Given the description of an element on the screen output the (x, y) to click on. 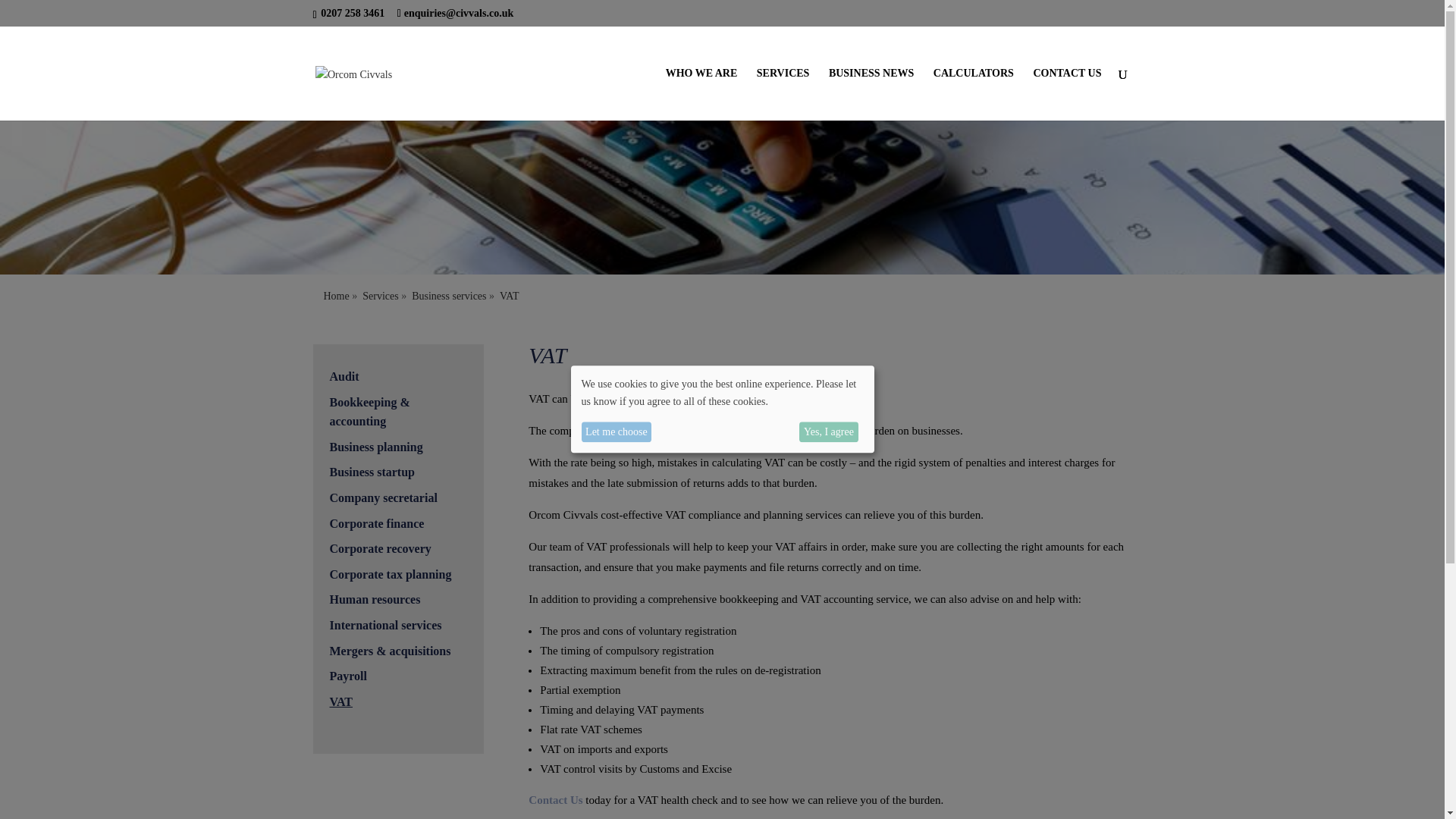
Business planning (375, 446)
VAT (340, 701)
Services (379, 296)
CALCULATORS (973, 93)
Corporate finance (376, 522)
BUSINESS NEWS (871, 93)
Company secretarial (382, 497)
Home (336, 296)
Audit (343, 376)
Corporate recovery (379, 548)
Payroll (347, 675)
International services (385, 625)
Business services (449, 296)
Business startup (371, 472)
SERVICES (783, 93)
